Given the description of an element on the screen output the (x, y) to click on. 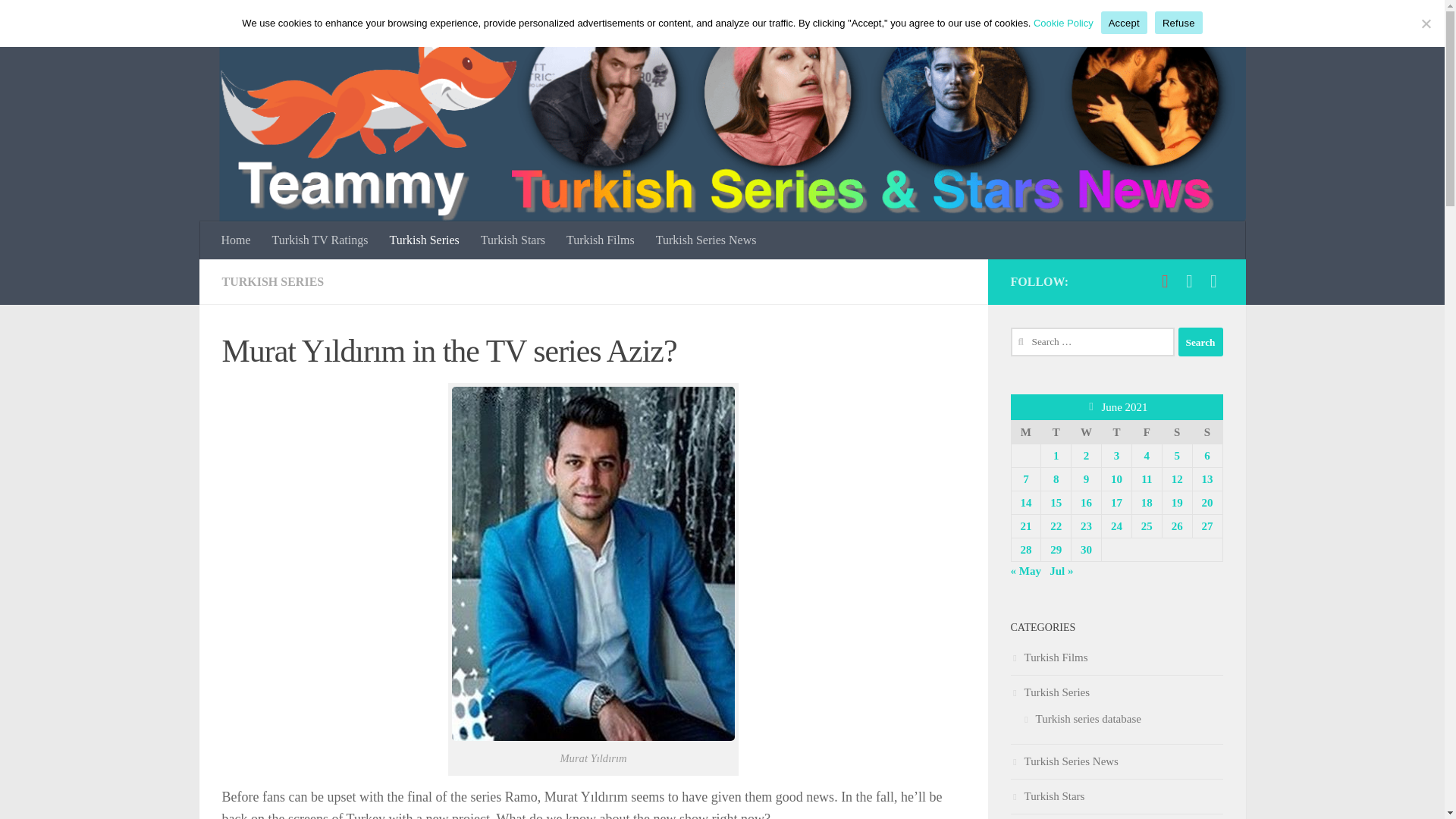
Turkish Films (600, 240)
Home (236, 240)
Skip to content (59, 20)
Turkish TV Ratings (320, 240)
Search (1200, 341)
Turkish Series (423, 240)
Turkish Stars (513, 240)
TURKISH SERIES (272, 281)
Search (1200, 341)
Turkish Series News (706, 240)
